Given the description of an element on the screen output the (x, y) to click on. 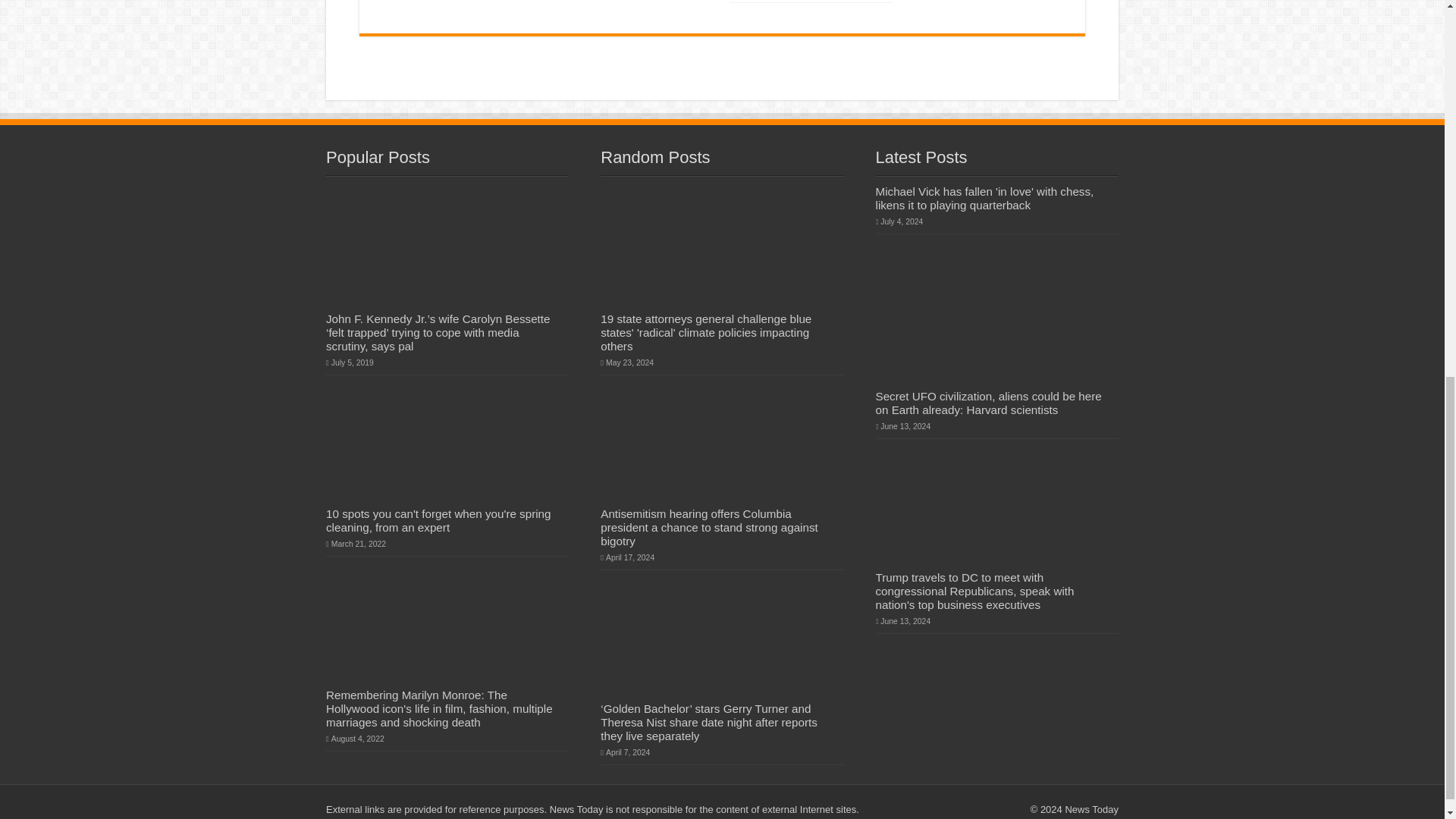
Scroll To Top (1421, 170)
